Given the description of an element on the screen output the (x, y) to click on. 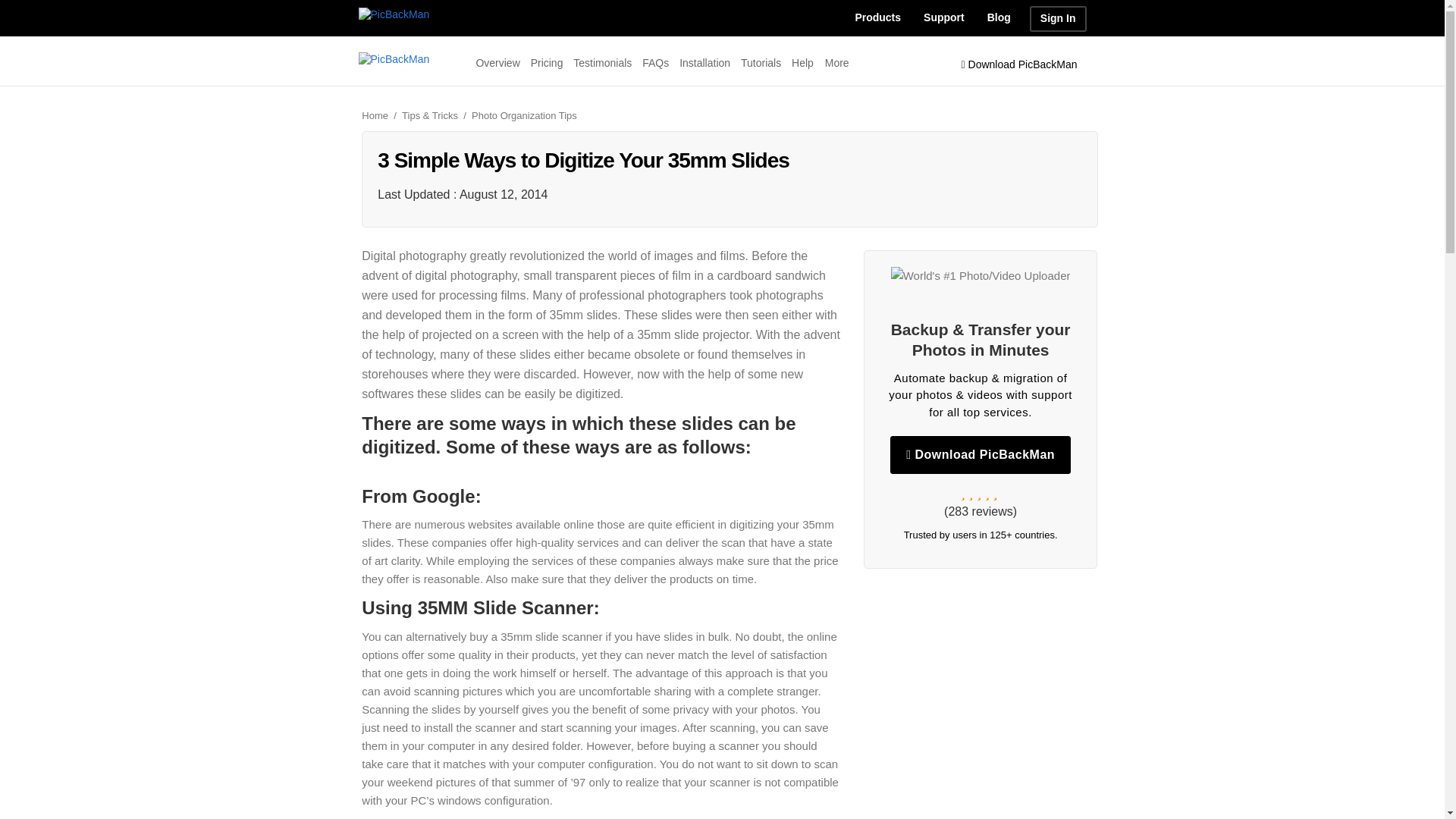
PicBackMan (393, 14)
FAQs (655, 62)
Installation (704, 62)
Pricing (547, 62)
Tutorials (760, 62)
Products (877, 18)
Sign In (1057, 18)
FAQs (655, 62)
PicBackMan (393, 59)
Help (802, 62)
